Given the description of an element on the screen output the (x, y) to click on. 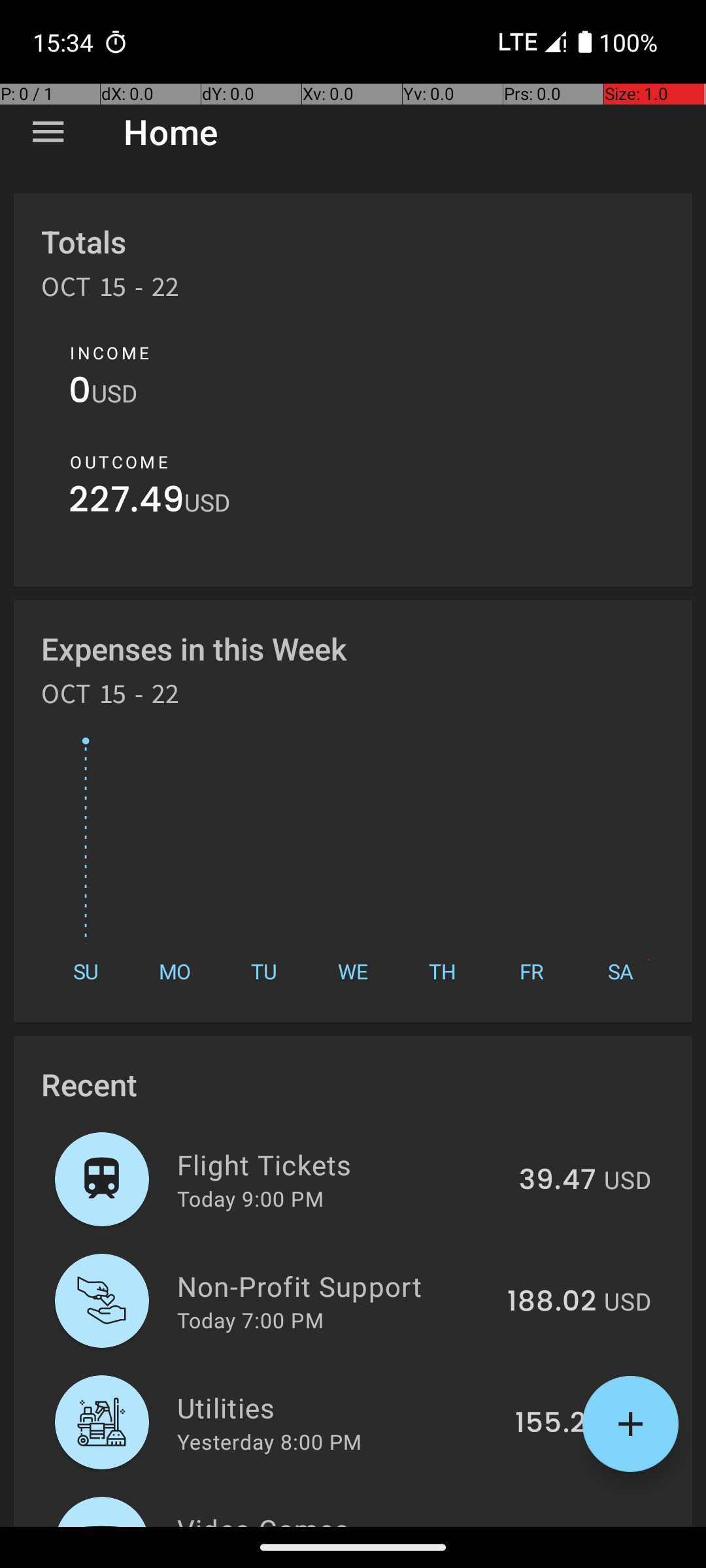
227.49 Element type: android.widget.TextView (126, 502)
Flight Tickets Element type: android.widget.TextView (340, 1164)
39.47 Element type: android.widget.TextView (557, 1180)
Non-Profit Support Element type: android.widget.TextView (334, 1285)
188.02 Element type: android.widget.TextView (551, 1301)
Utilities Element type: android.widget.TextView (338, 1407)
Yesterday 8:00 PM Element type: android.widget.TextView (269, 1441)
155.21 Element type: android.widget.TextView (555, 1423)
Video Games Element type: android.widget.TextView (332, 1518)
244.27 Element type: android.widget.TextView (549, 1524)
